Given the description of an element on the screen output the (x, y) to click on. 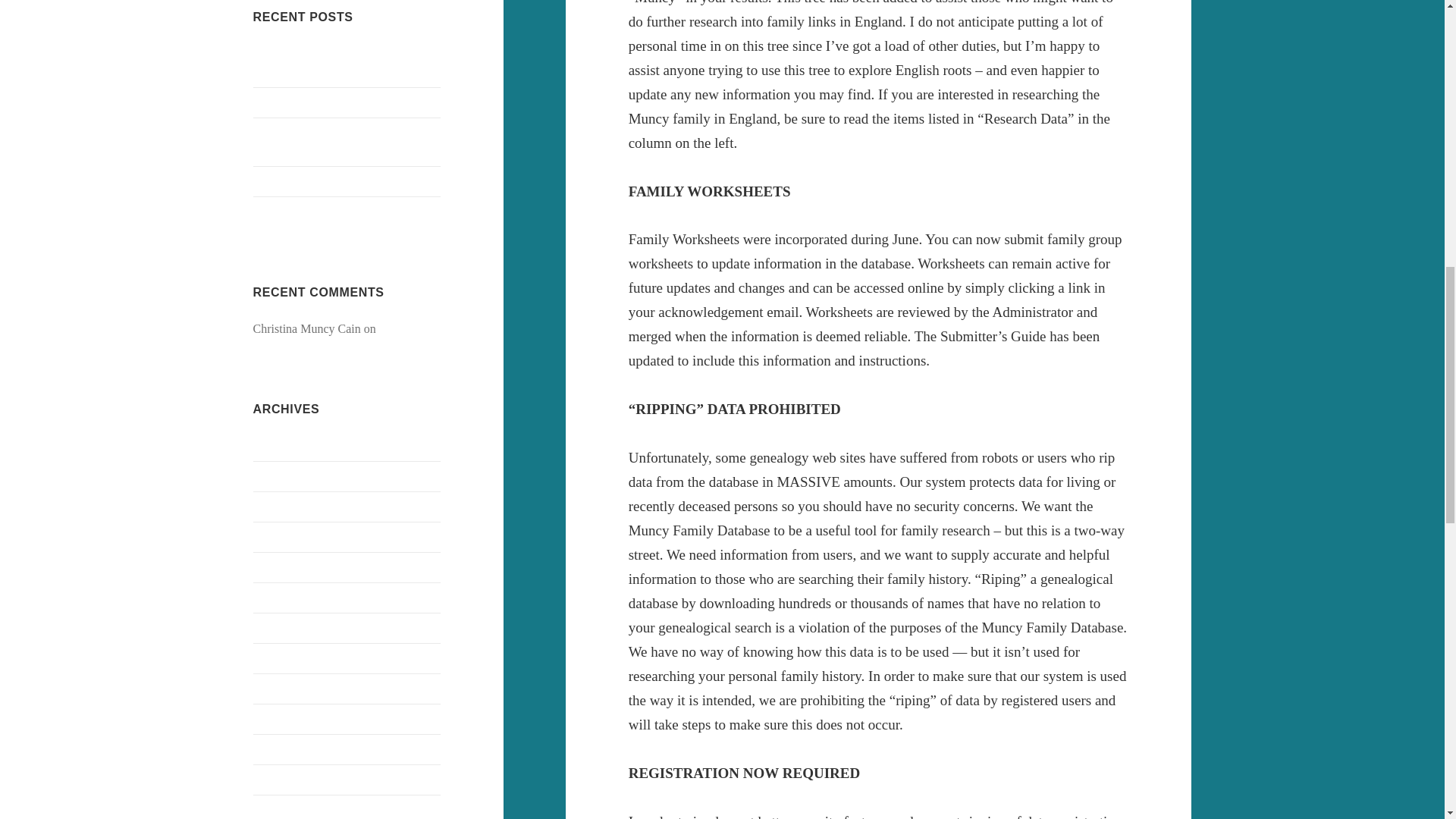
July Update (282, 210)
November 2016 (292, 748)
July 2018 (277, 626)
September 2019 (292, 445)
October 2018 (286, 596)
October 2016 (286, 779)
September 2016 (292, 809)
August Update (289, 180)
July 2017 (277, 657)
January 2019 (285, 566)
September 2019 Update (312, 101)
December 2016 (291, 717)
January 2017 (285, 687)
August 2019 (284, 475)
July 2019 (277, 505)
